Given the description of an element on the screen output the (x, y) to click on. 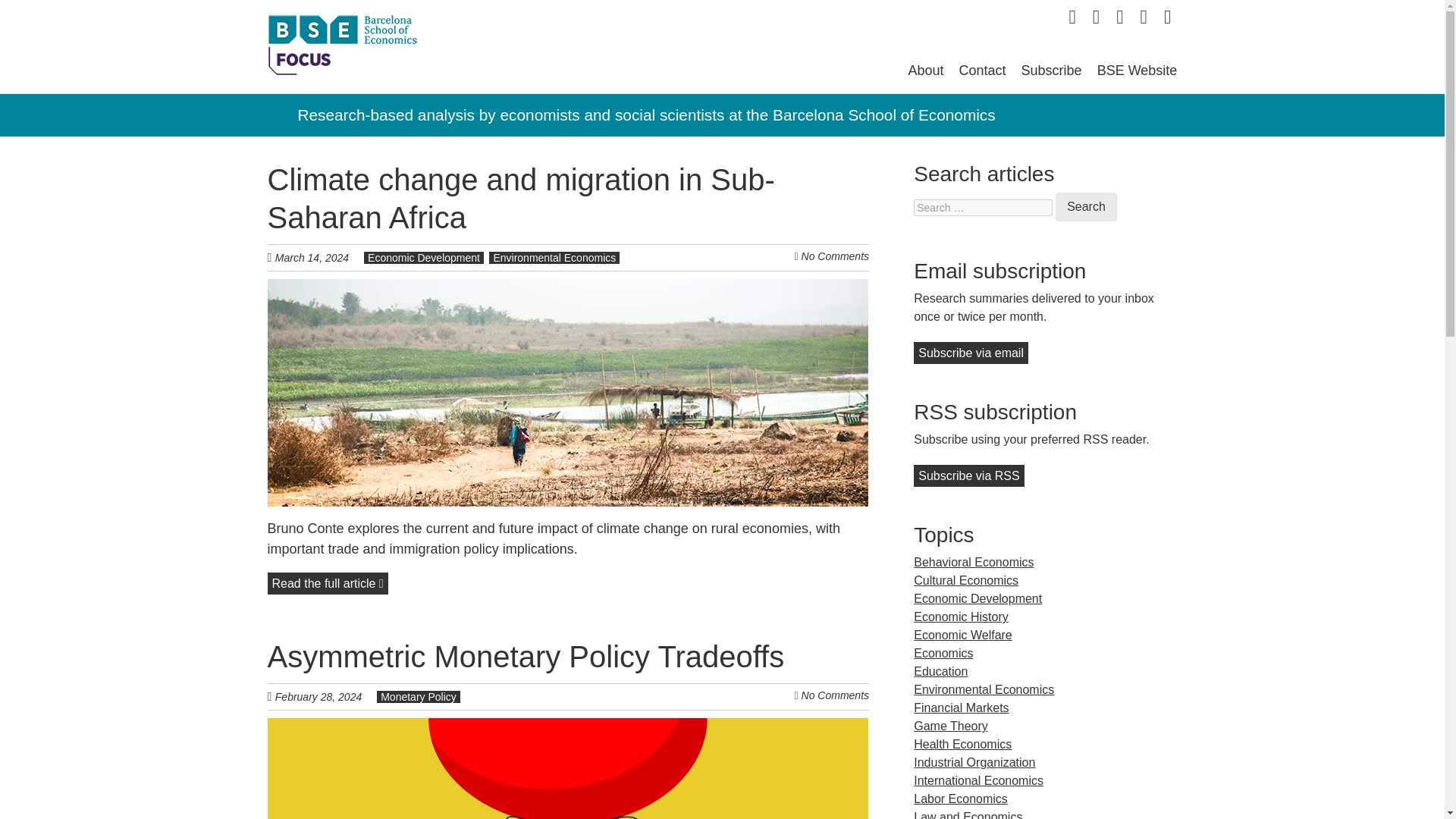
Connect with BSE on LinkedIn (1119, 16)
Monetary Policy (418, 696)
Read the full article (326, 583)
Follow BSE on Twitter (1071, 16)
Contact BSE Focus (982, 70)
Subscribe (1051, 70)
BSE Website (1137, 70)
March 14, 2024 (319, 256)
Like BSE on Facebook (1096, 16)
Follow BSE on Instagram (1167, 16)
